Given the description of an element on the screen output the (x, y) to click on. 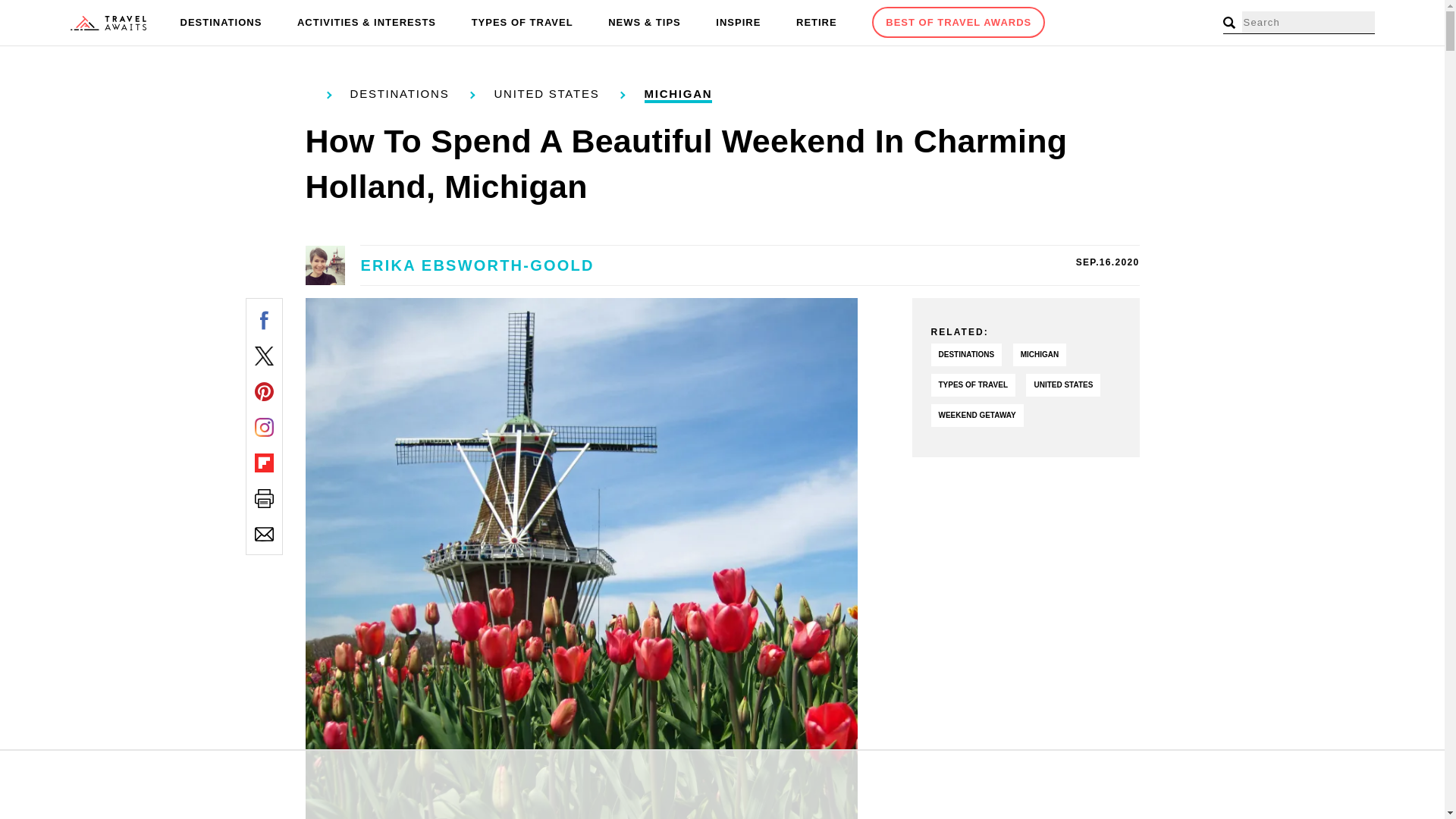
TYPES OF TRAVEL (522, 22)
Instagram (263, 426)
Facebook (263, 320)
Flipboard (263, 462)
DESTINATIONS (221, 22)
TravelAwaits (107, 22)
Print (263, 497)
Email (263, 533)
Pinterest (263, 391)
Twitter (263, 355)
